Given the description of an element on the screen output the (x, y) to click on. 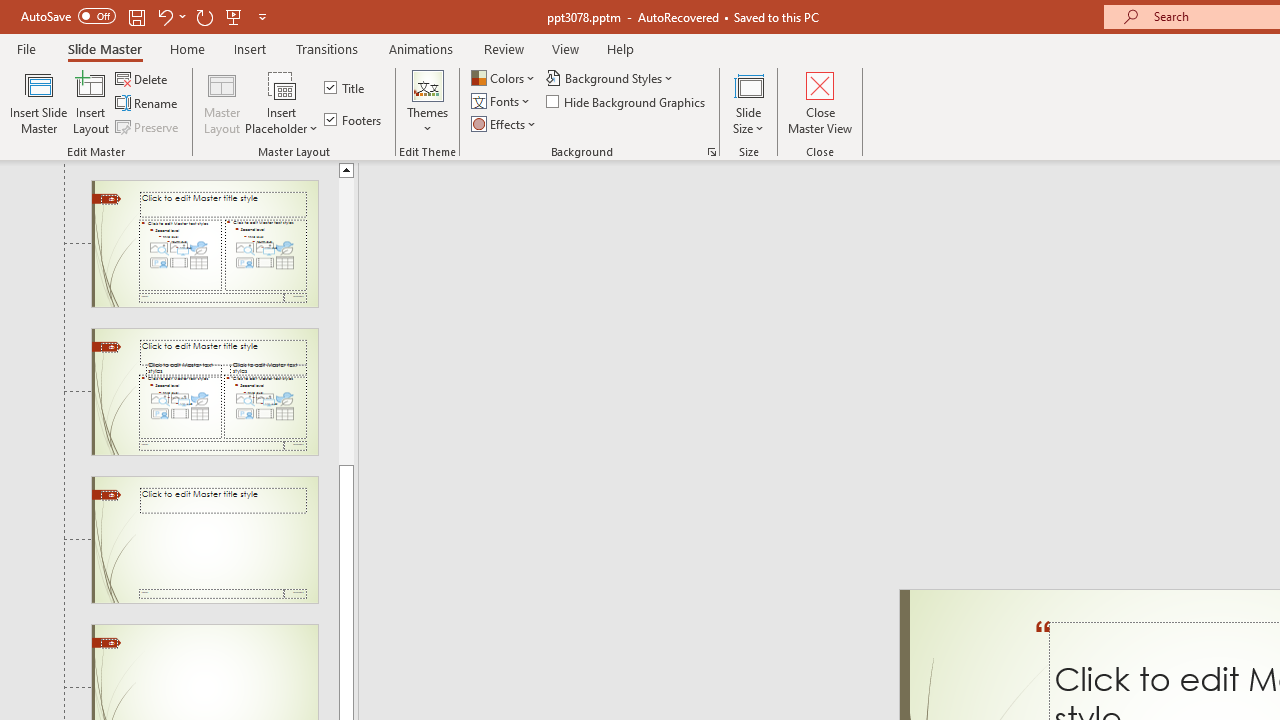
Rename (148, 103)
Title (346, 87)
Background Styles (610, 78)
Slide Size (749, 102)
Slide Two Content Layout: used by no slides (204, 243)
Master Layout... (221, 102)
